Given the description of an element on the screen output the (x, y) to click on. 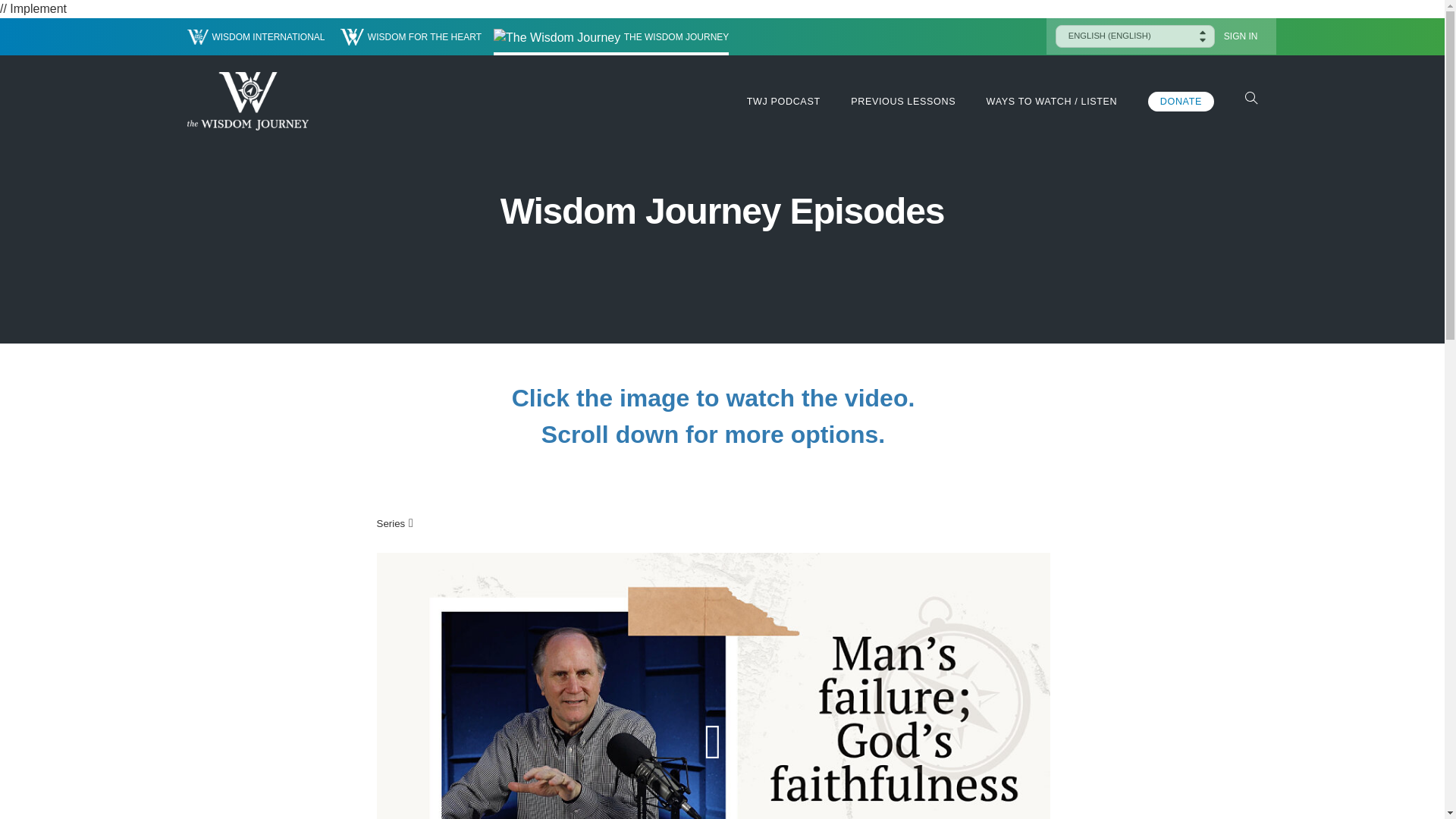
WISDOM INTERNATIONAL (255, 36)
SIGN IN (1240, 36)
PREVIOUS LESSONS (902, 101)
DONATE (1181, 101)
THE WISDOM JOURNEY (611, 36)
WISDOM FOR THE HEART (410, 36)
TWJ PODCAST (783, 101)
Sign In (1240, 36)
